Given the description of an element on the screen output the (x, y) to click on. 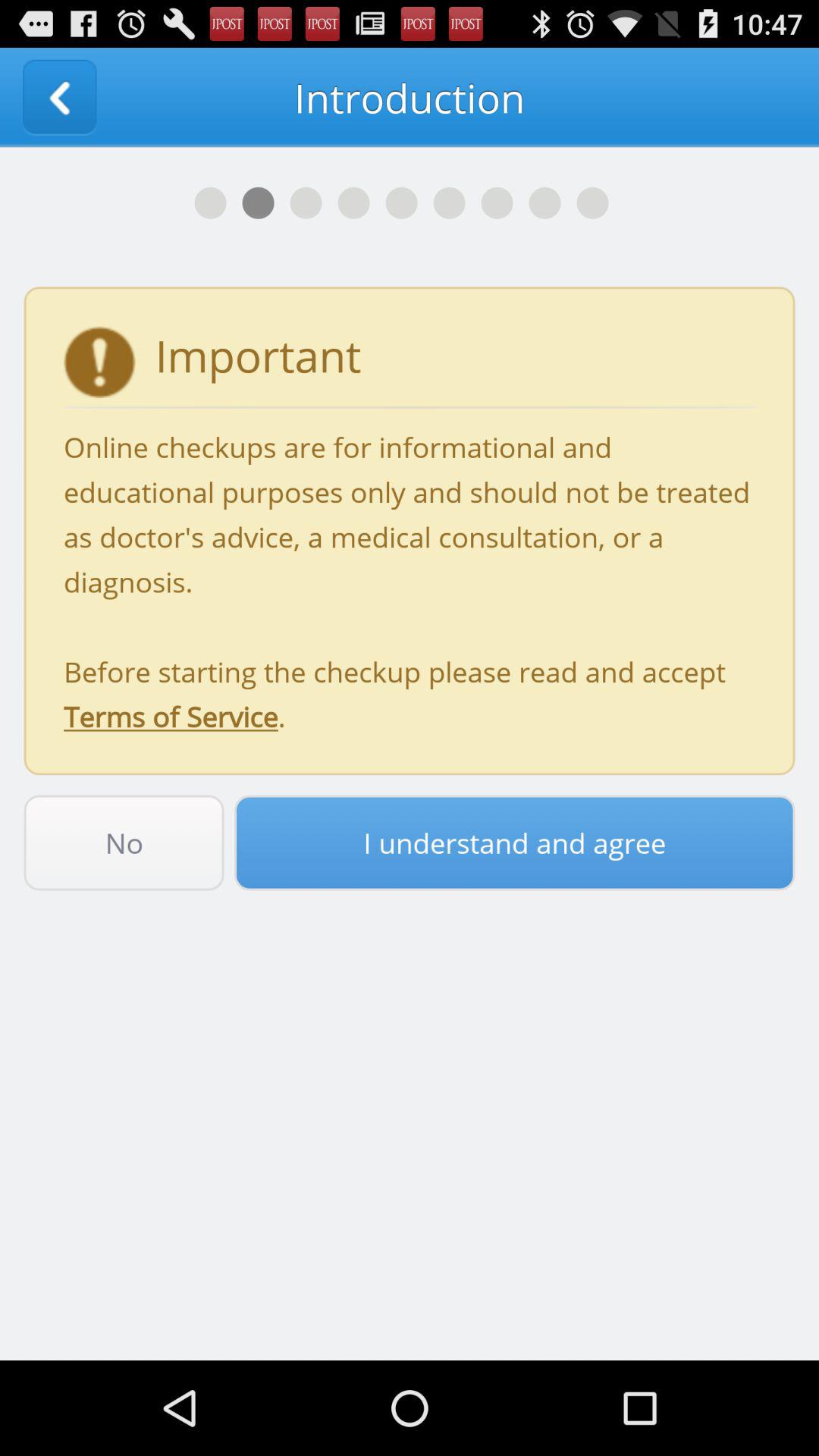
turn off the item below the important item (409, 581)
